Given the description of an element on the screen output the (x, y) to click on. 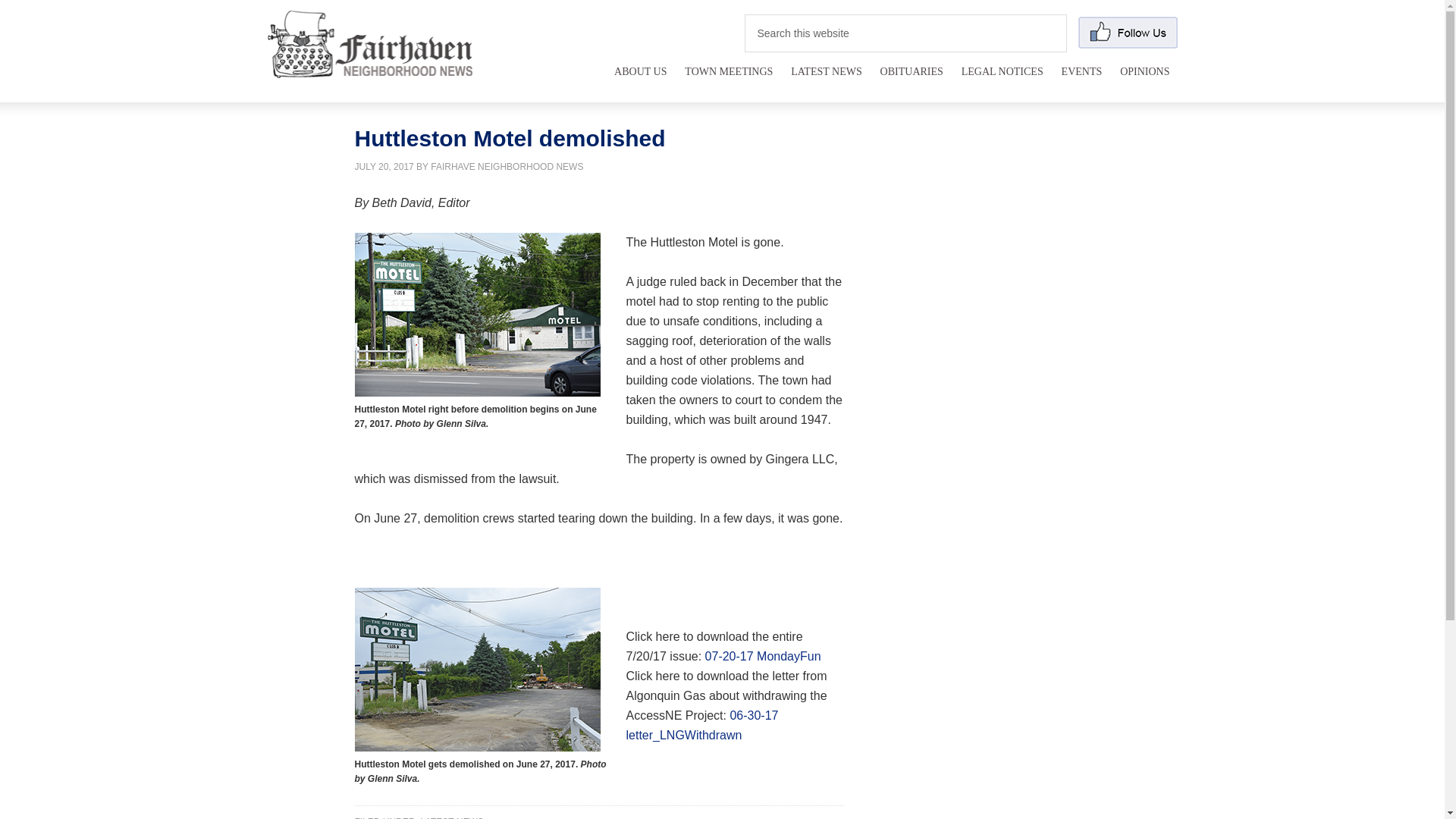
07-20-17 MondayFun (762, 655)
OBITUARIES (911, 80)
EVENTS (1081, 80)
FAIRHAVE NEIGHBORHOOD NEWS (506, 166)
LATEST NEWS (451, 817)
OPINIONS (1144, 80)
ABOUT US (640, 80)
LEGAL NOTICES (1002, 80)
LATEST NEWS (826, 80)
